Given the description of an element on the screen output the (x, y) to click on. 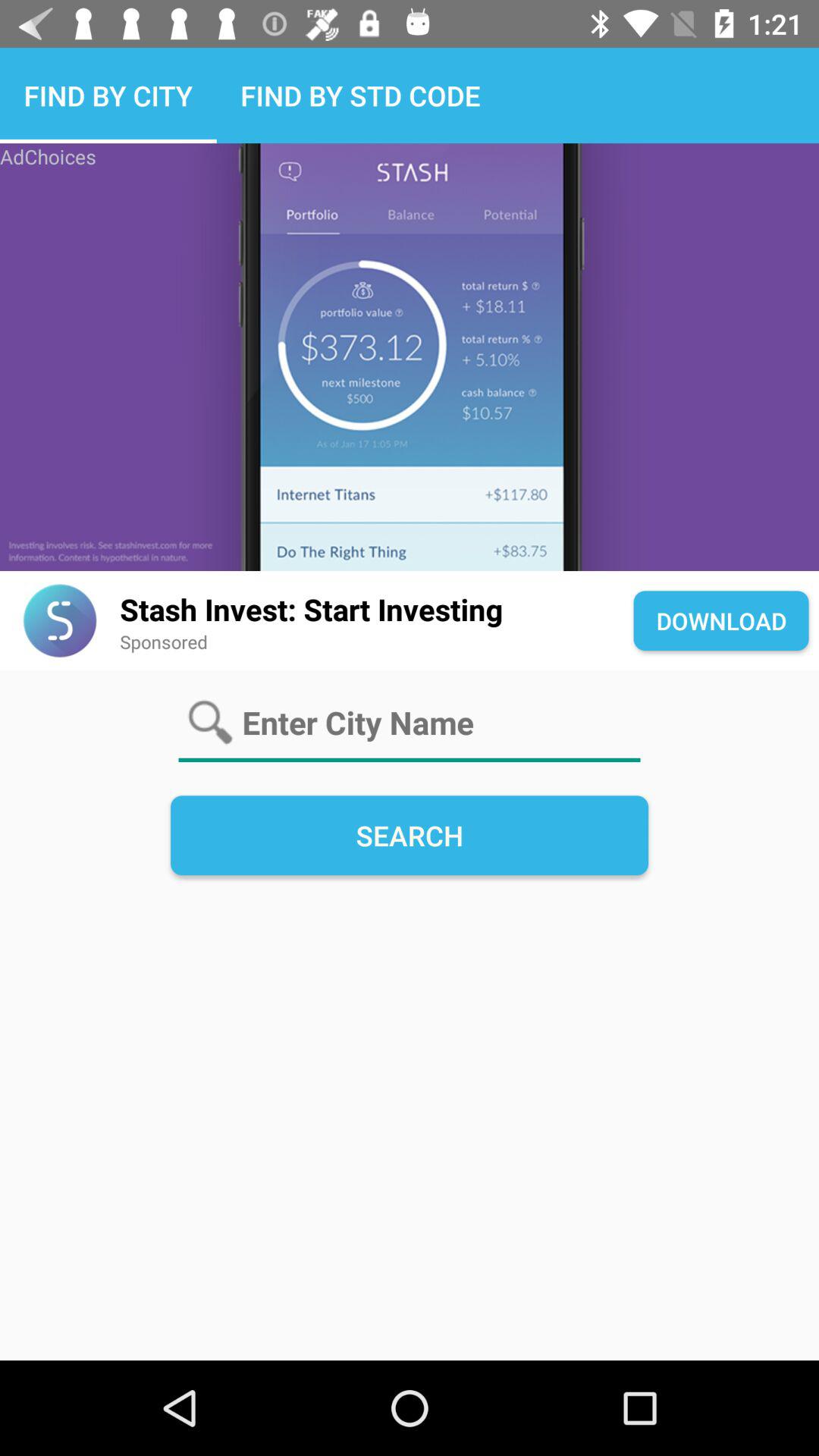
open stash invest google play page (59, 620)
